Given the description of an element on the screen output the (x, y) to click on. 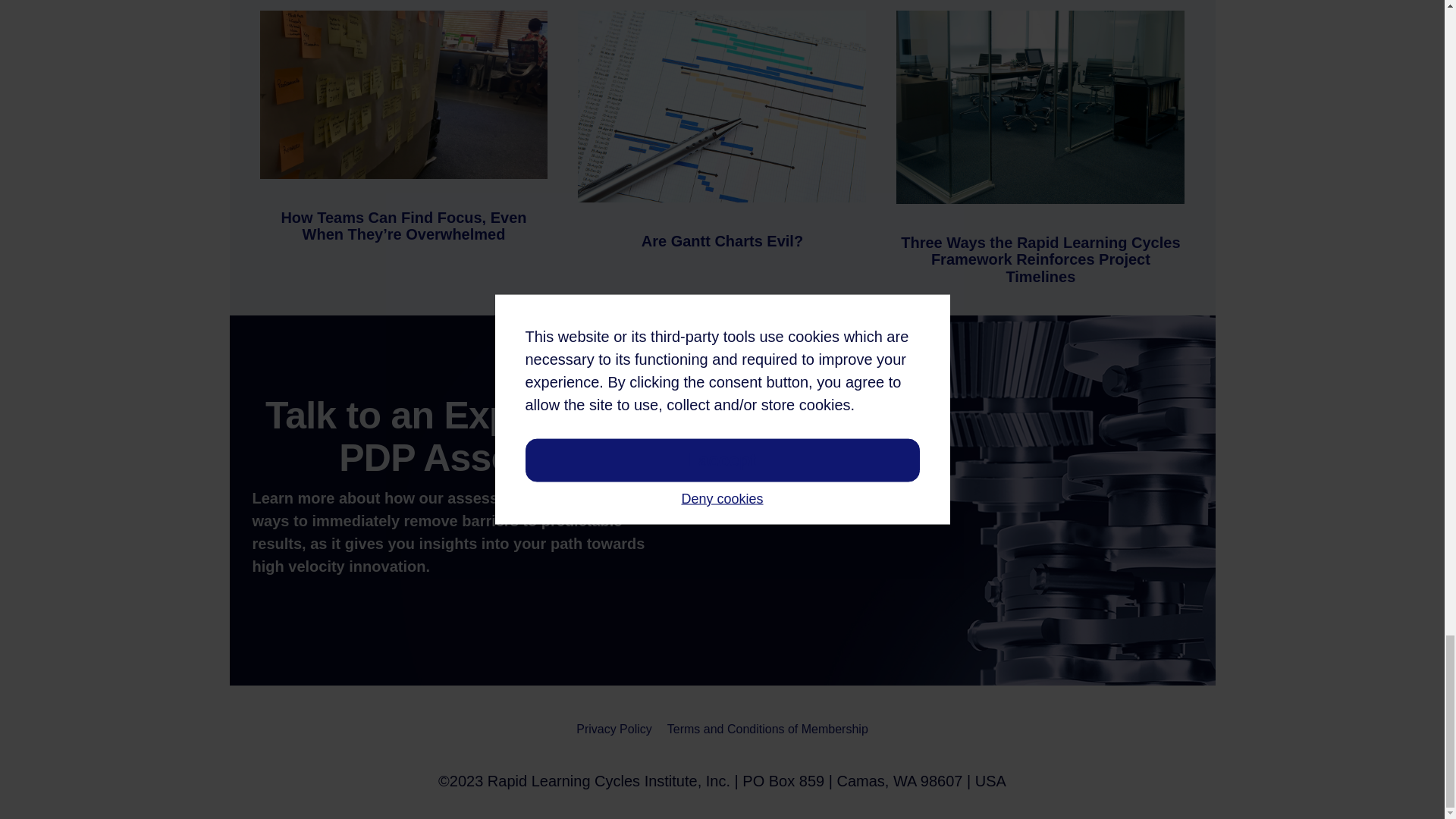
How-We-Used-RLCs-compressed.png (403, 94)
Are Gantt Charts Evil? (722, 240)
ManagingUncertainty.jpg (1040, 106)
Are-Gantt-Charts-Evil-1024x683.png (722, 106)
